Given the description of an element on the screen output the (x, y) to click on. 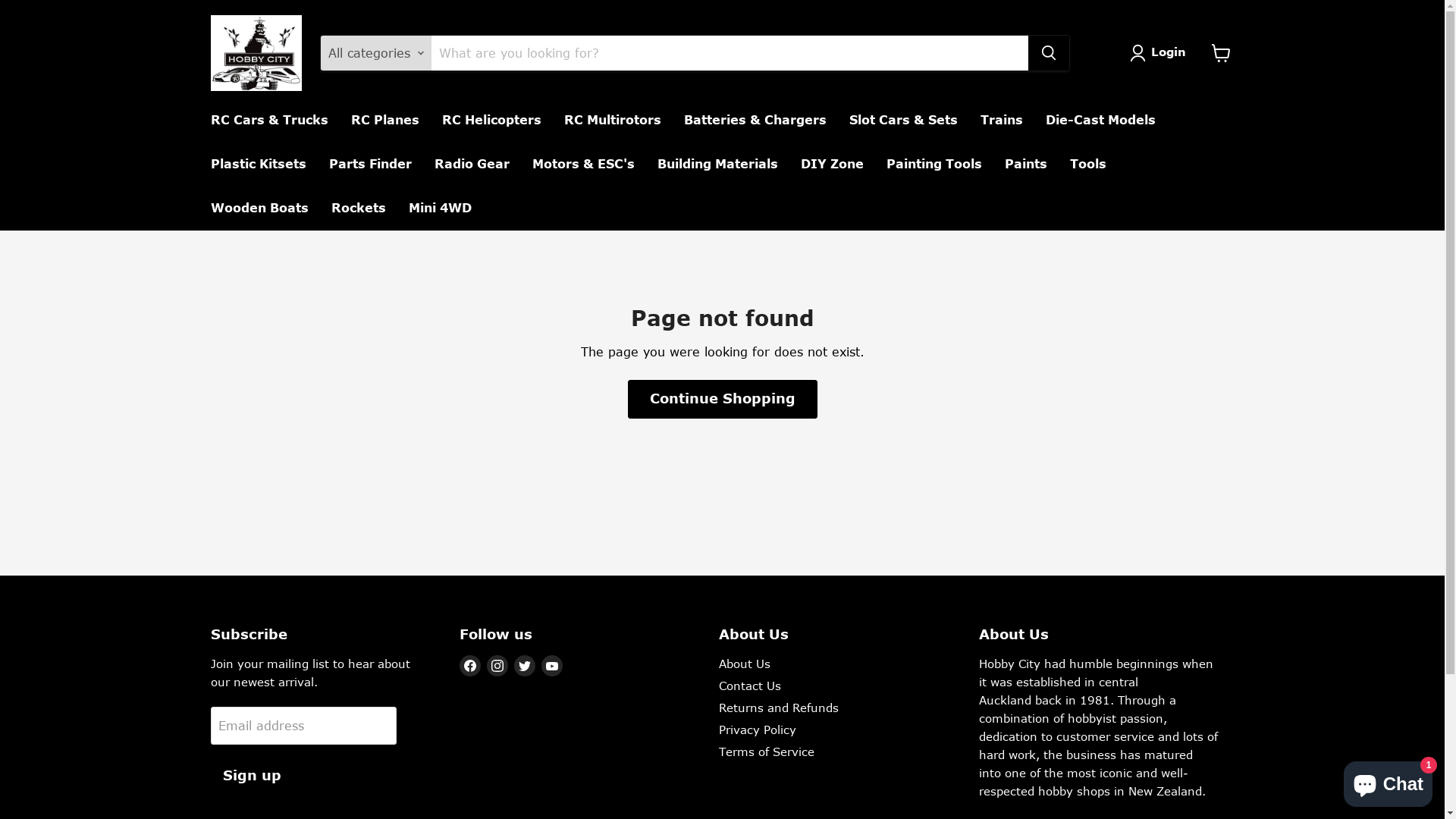
Plastic Kitsets Element type: text (257, 164)
About Us Element type: text (744, 663)
Shopify online store chat Element type: hover (1388, 780)
RC Planes Element type: text (384, 120)
Mini 4WD Element type: text (440, 208)
Slot Cars & Sets Element type: text (902, 120)
View cart Element type: text (1221, 52)
Building Materials Element type: text (717, 164)
Parts Finder Element type: text (369, 164)
Motors & ESC's Element type: text (582, 164)
Login Element type: text (1160, 52)
Find us on Twitter Element type: text (524, 665)
Privacy Policy Element type: text (757, 729)
Trains Element type: text (1001, 120)
Terms of Service Element type: text (766, 751)
DIY Zone Element type: text (831, 164)
Find us on YouTube Element type: text (551, 665)
RC Helicopters Element type: text (491, 120)
Sign up Element type: text (251, 775)
Die-Cast Models Element type: text (1100, 120)
RC Multirotors Element type: text (611, 120)
Rockets Element type: text (358, 208)
RC Cars & Trucks Element type: text (268, 120)
Find us on Facebook Element type: text (469, 665)
Paints Element type: text (1025, 164)
Radio Gear Element type: text (471, 164)
Contact Us Element type: text (749, 685)
Batteries & Chargers Element type: text (754, 120)
Continue Shopping Element type: text (722, 398)
Tools Element type: text (1087, 164)
Returns and Refunds Element type: text (778, 707)
Wooden Boats Element type: text (258, 208)
Painting Tools Element type: text (934, 164)
Find us on Instagram Element type: text (497, 665)
